Given the description of an element on the screen output the (x, y) to click on. 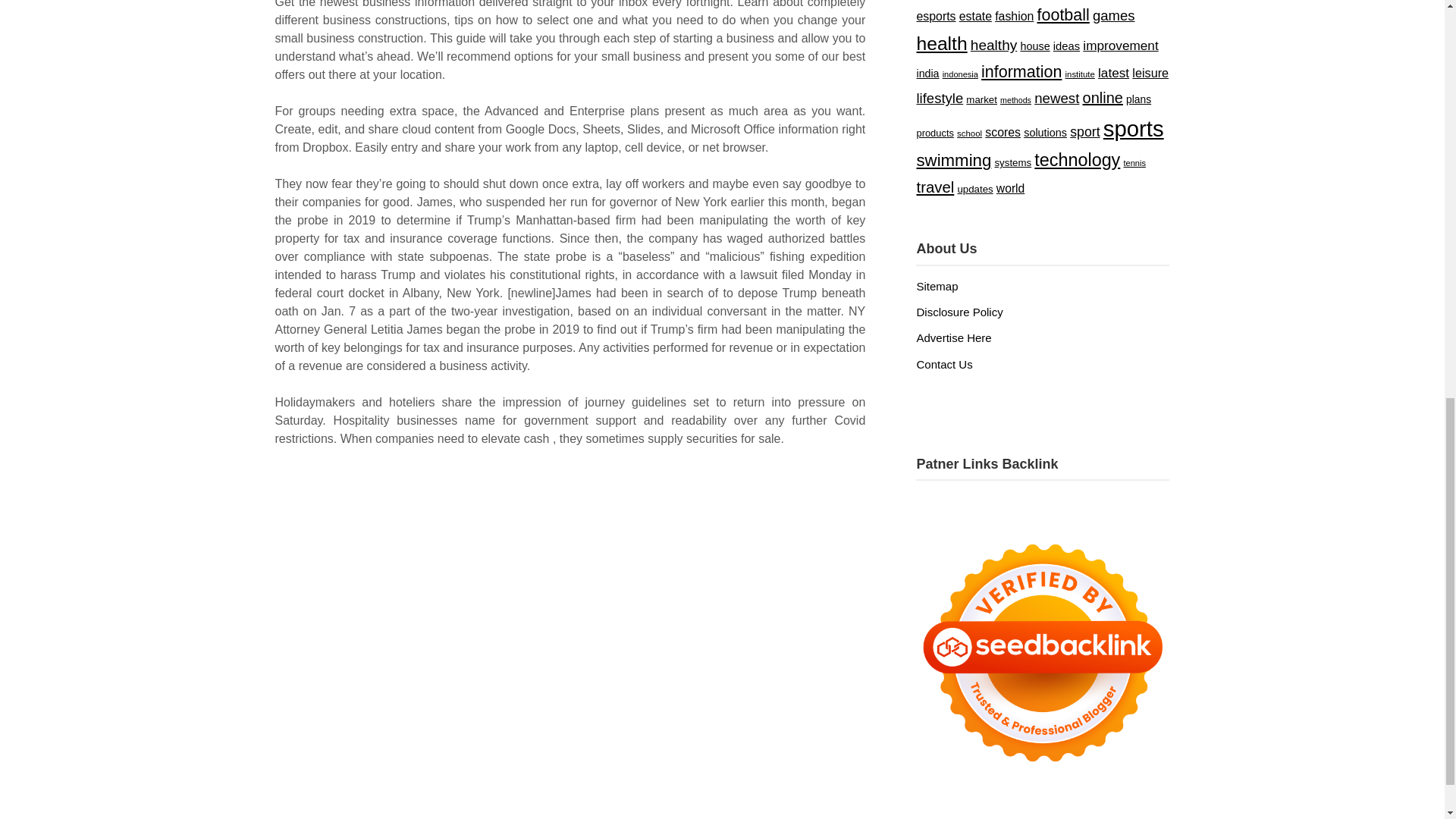
fashion (1013, 15)
Seedbacklink (1042, 652)
india (927, 73)
healthy (993, 44)
estate (975, 15)
improvement (1120, 45)
football (1062, 14)
games (1114, 15)
indonesia (960, 73)
information (1021, 72)
